Given the description of an element on the screen output the (x, y) to click on. 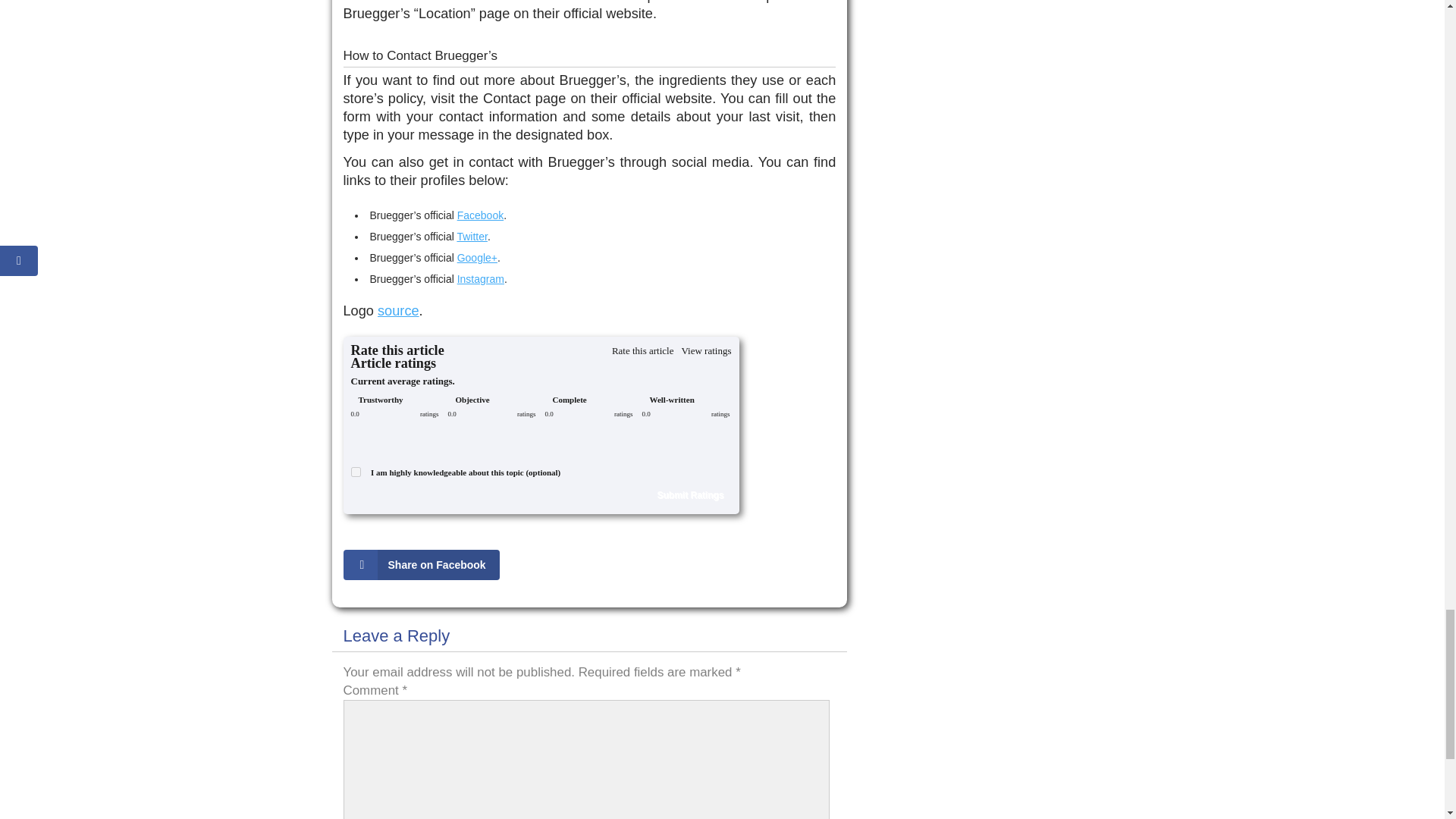
Share on Facebook (423, 564)
Facebook (480, 215)
source (398, 310)
Submit Ratings (689, 495)
Instagram (480, 278)
Twitter (471, 236)
